Given the description of an element on the screen output the (x, y) to click on. 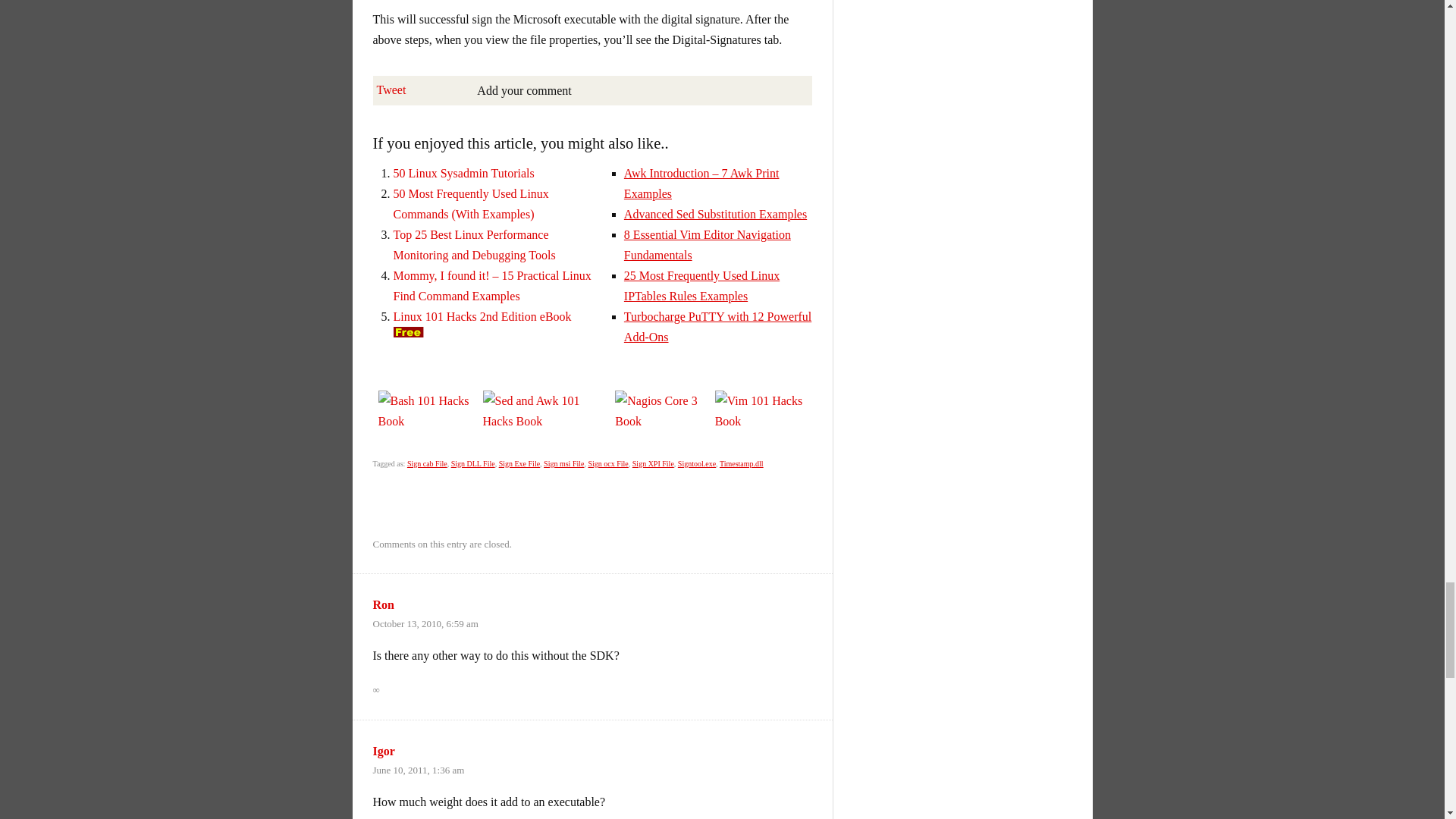
Bash 101 Hacks Book (424, 410)
Turbocharge PuTTY with 12 Powerful Add-Ons (717, 326)
Linux 101 Hacks 2nd Edition eBook (481, 316)
Advanced Sed Substitution Examples (715, 214)
Linux 101 Hacks Book (408, 331)
Sign Exe File (519, 463)
8 Essential Vim Editor Navigation Fundamentals (707, 244)
Tweet (390, 89)
Sign cab File (426, 463)
Igor (383, 750)
